Given the description of an element on the screen output the (x, y) to click on. 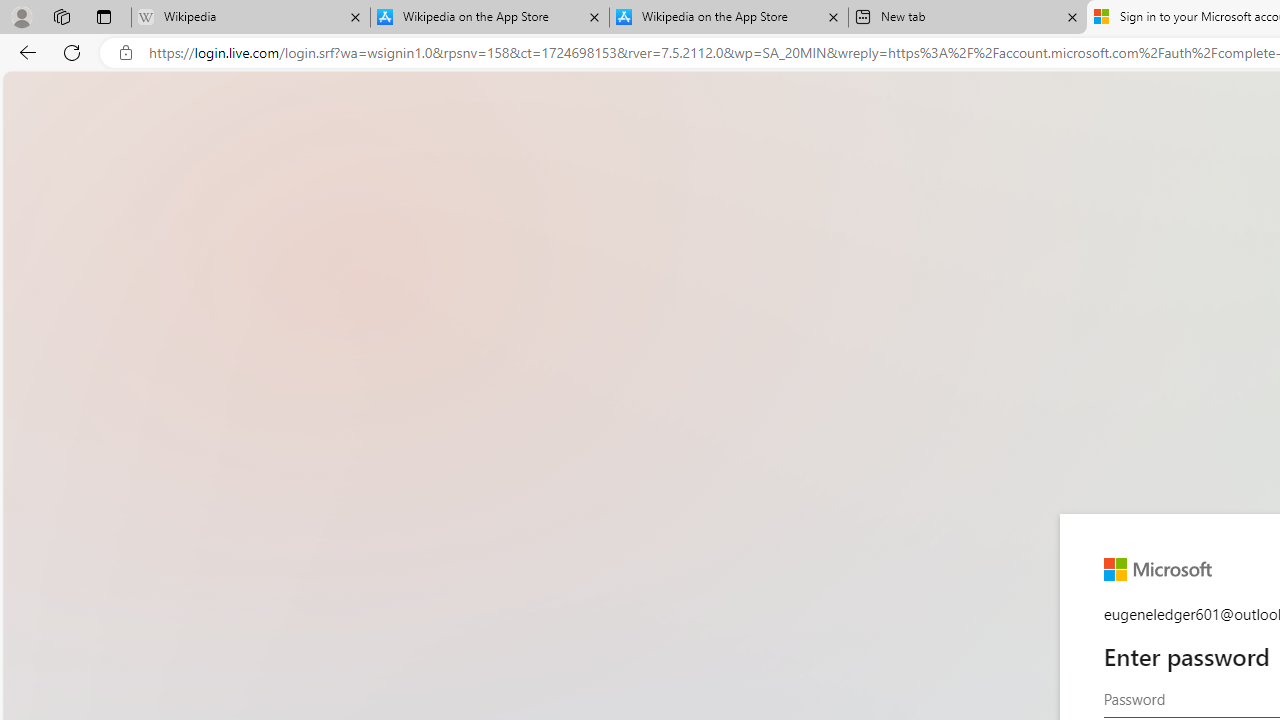
Wikipedia - Sleeping (250, 17)
Microsoft (1157, 569)
